Given the description of an element on the screen output the (x, y) to click on. 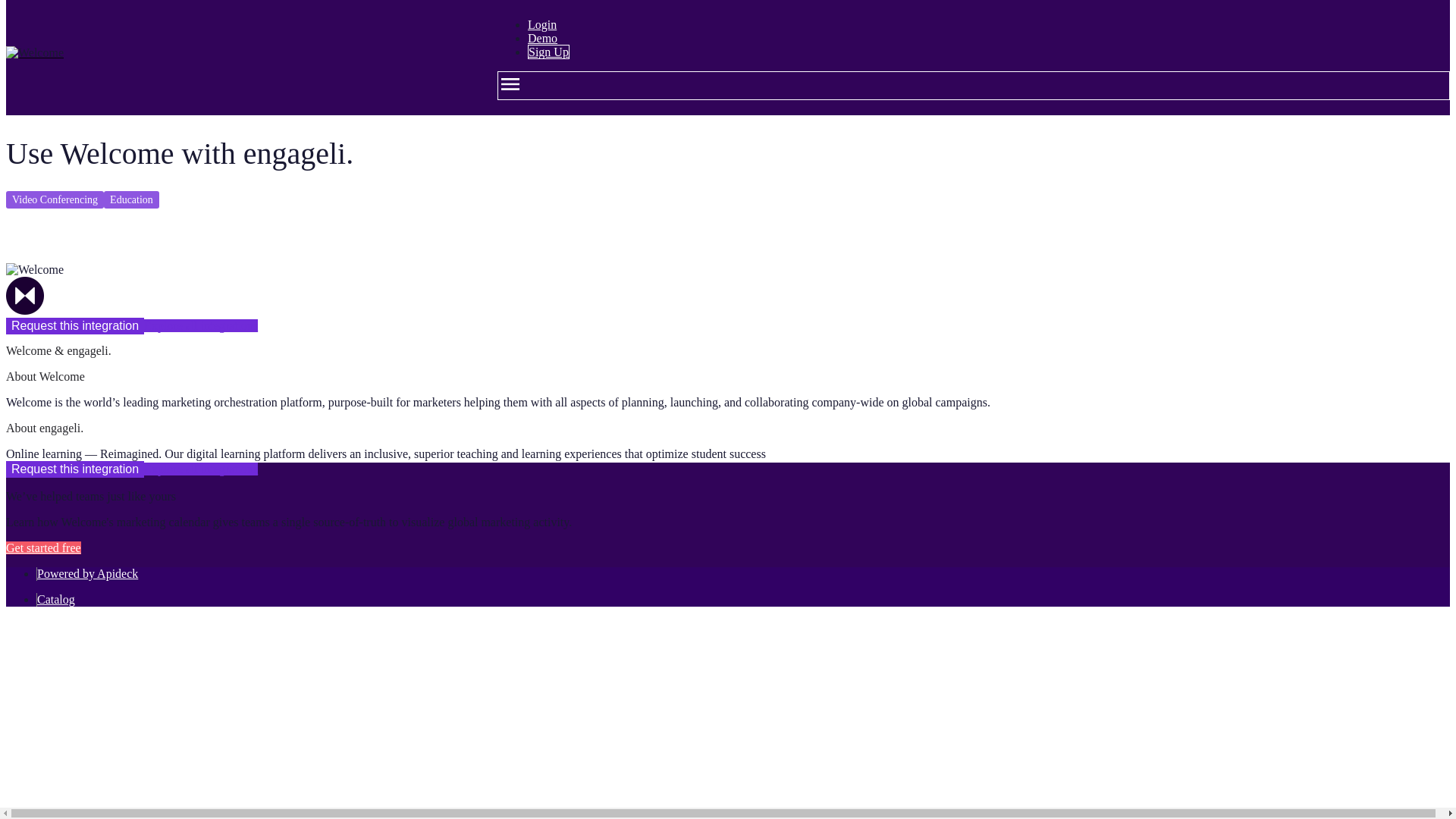
Welcome (34, 269)
Request this integration (74, 469)
Welcome (34, 52)
Get started free (43, 547)
Request this integration (74, 325)
Demo (542, 38)
Catalog (56, 599)
Explore all integrations (200, 468)
Login (541, 24)
Sign Up (548, 51)
Explore all integrations (200, 325)
Powered by Apideck (87, 573)
engageli. (24, 295)
